Given the description of an element on the screen output the (x, y) to click on. 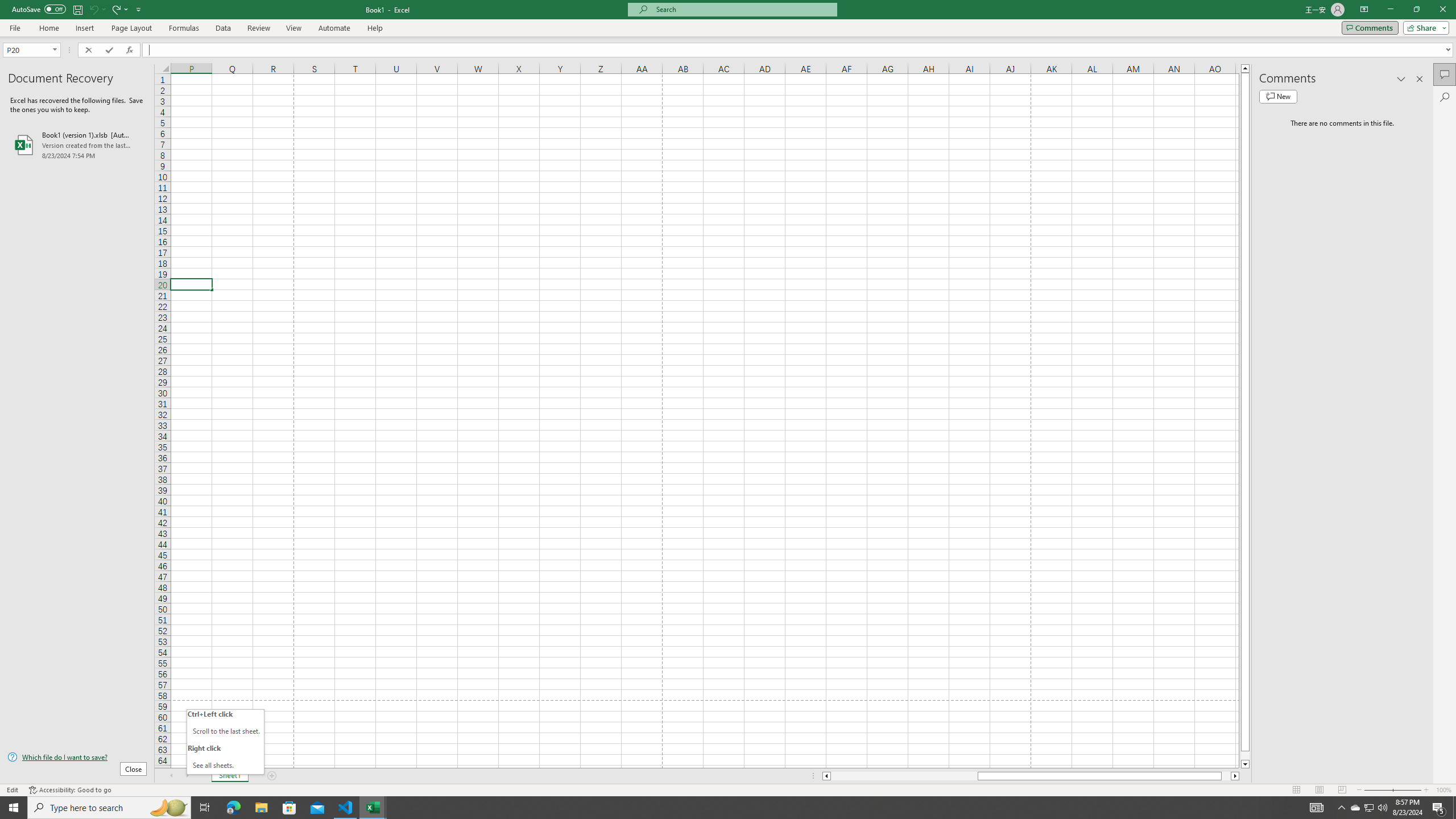
Undo (92, 9)
Undo (96, 9)
